Given the description of an element on the screen output the (x, y) to click on. 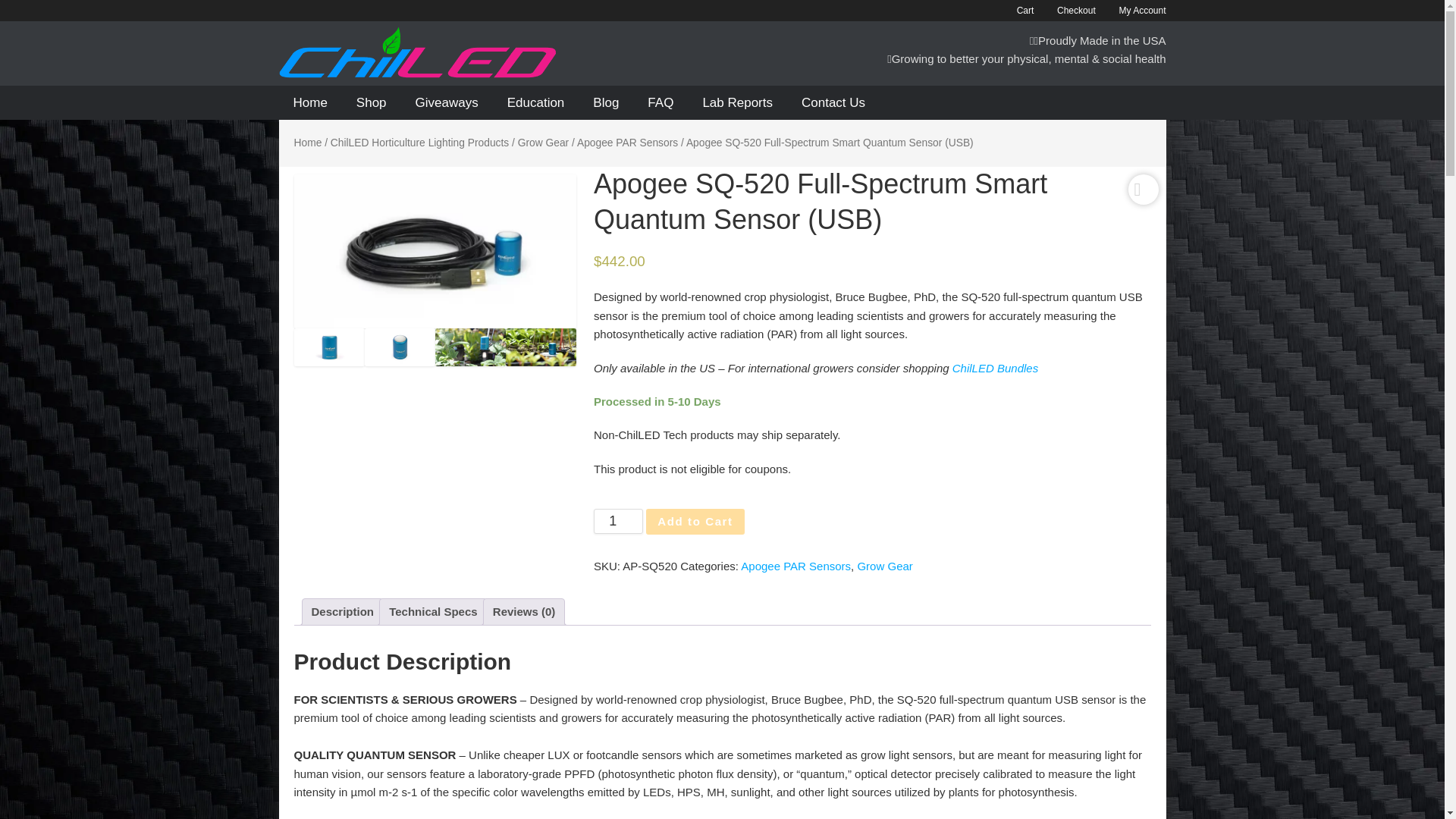
Contact Us (833, 102)
full-spectrum-analog-front (329, 347)
Giveaways (447, 102)
Blog (605, 102)
ChilLED Horticulture Lighting Products (419, 142)
Education (536, 102)
Apogee PAR Sensors (627, 142)
Grow Gear (543, 142)
full-spectrum-analog-application2 (470, 347)
Checkout (1066, 10)
Home (310, 102)
Lab Reports (737, 102)
sq-520 (435, 250)
FAQ (660, 102)
full-spectrum-analog-application (540, 347)
